Given the description of an element on the screen output the (x, y) to click on. 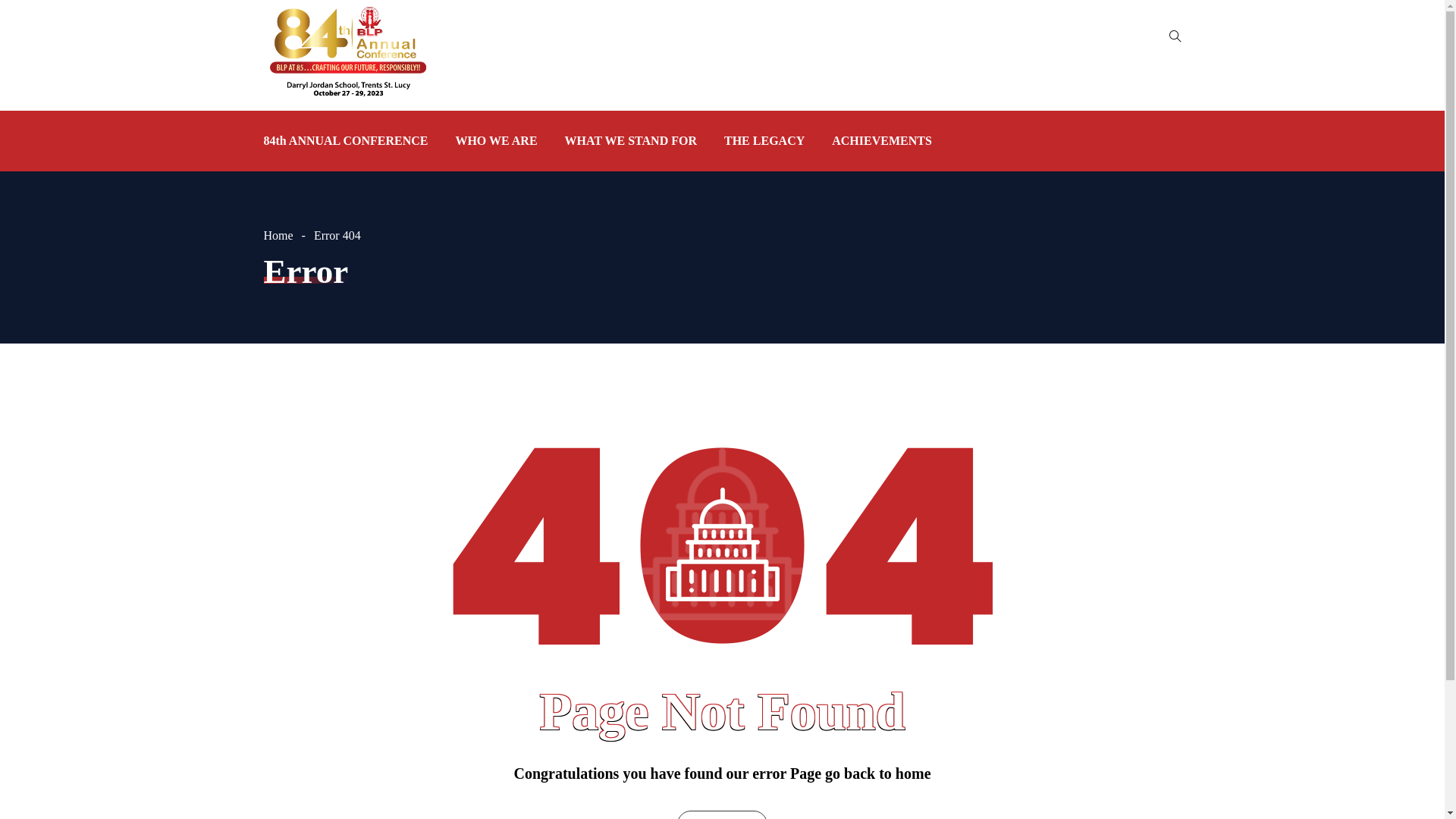
84th ANNUAL CONFERENCE Element type: text (352, 140)
THE LEGACY Element type: text (764, 140)
WHO WE ARE Element type: text (495, 140)
Barbados Labour Party (BLP) Element type: hover (347, 55)
WHAT WE STAND FOR Element type: text (630, 140)
ACHIEVEMENTS Element type: text (874, 140)
Home Element type: text (286, 235)
